Given the description of an element on the screen output the (x, y) to click on. 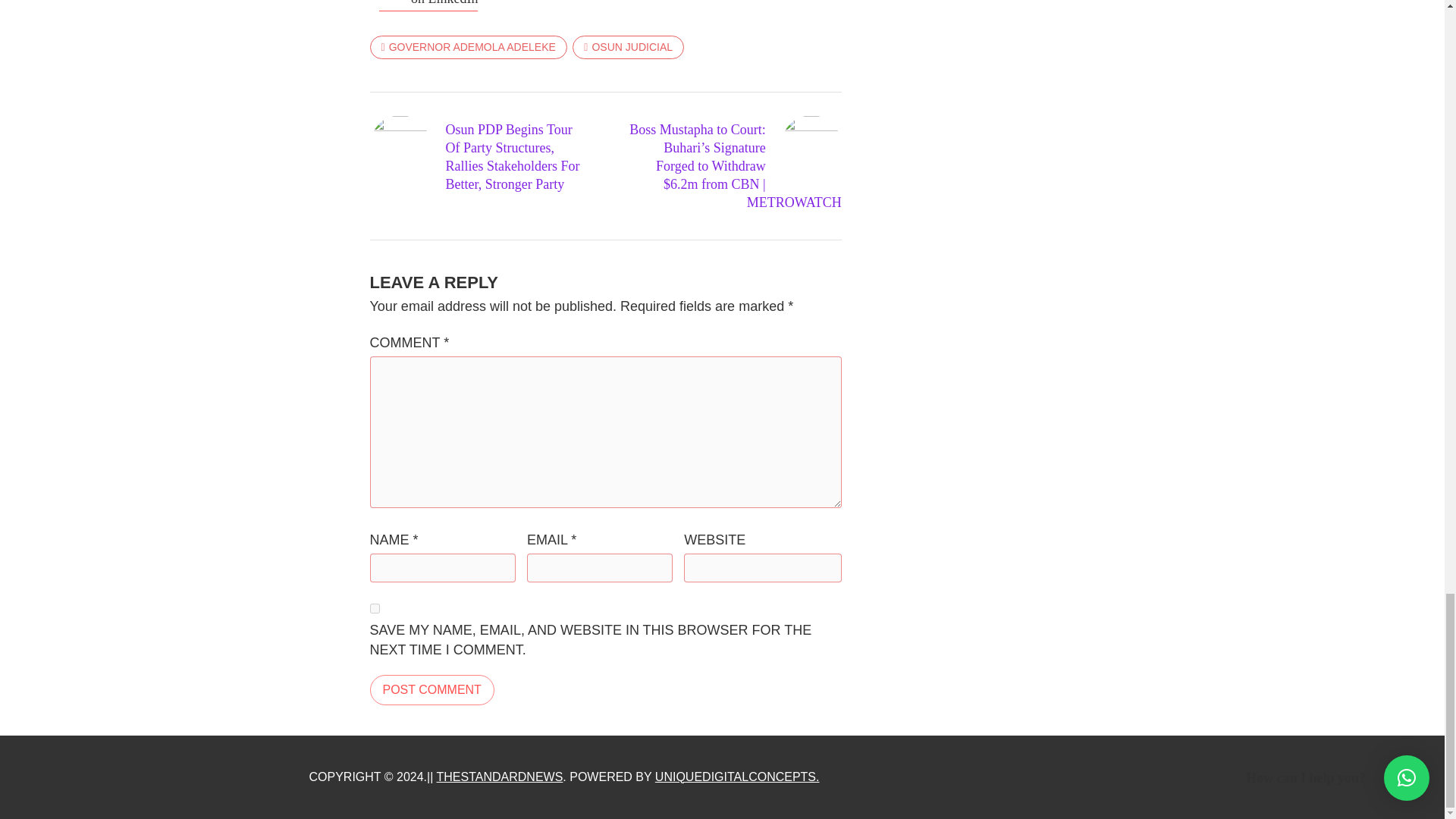
GOVERNOR ADEMOLA ADELEKE (468, 47)
THESTANDARDNEWS (499, 776)
yes (374, 608)
OSUN JUDICIAL (628, 47)
Post Comment (432, 689)
on LinkedIn (428, 6)
Post Comment (432, 689)
